Given the description of an element on the screen output the (x, y) to click on. 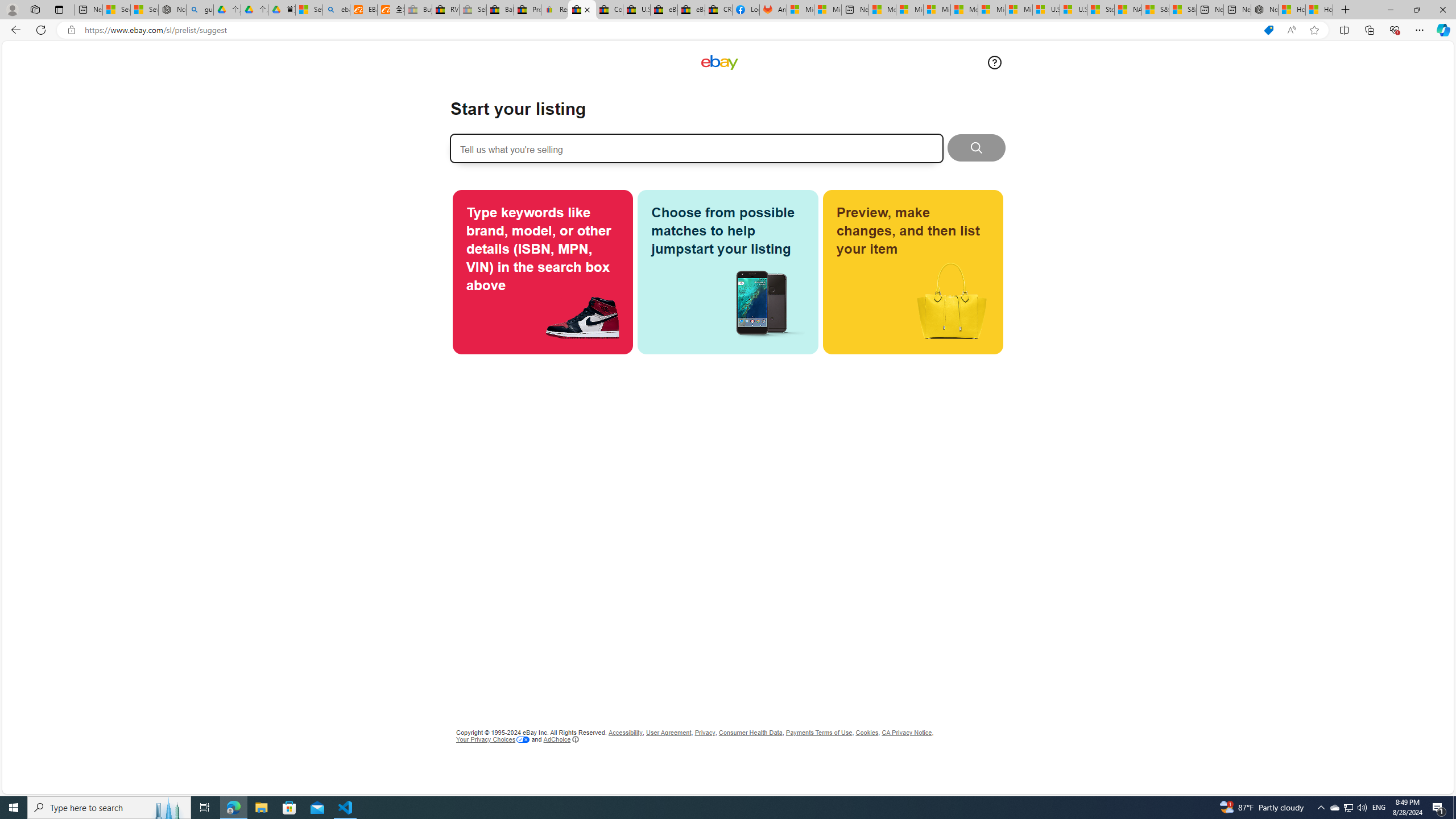
User Agreement (668, 732)
guge yunpan - Search (200, 9)
CA Privacy Notice (905, 732)
Privacy (704, 732)
Press Room - eBay Inc. (527, 9)
ebay - Search (336, 9)
eBay Home (719, 62)
